Given the description of an element on the screen output the (x, y) to click on. 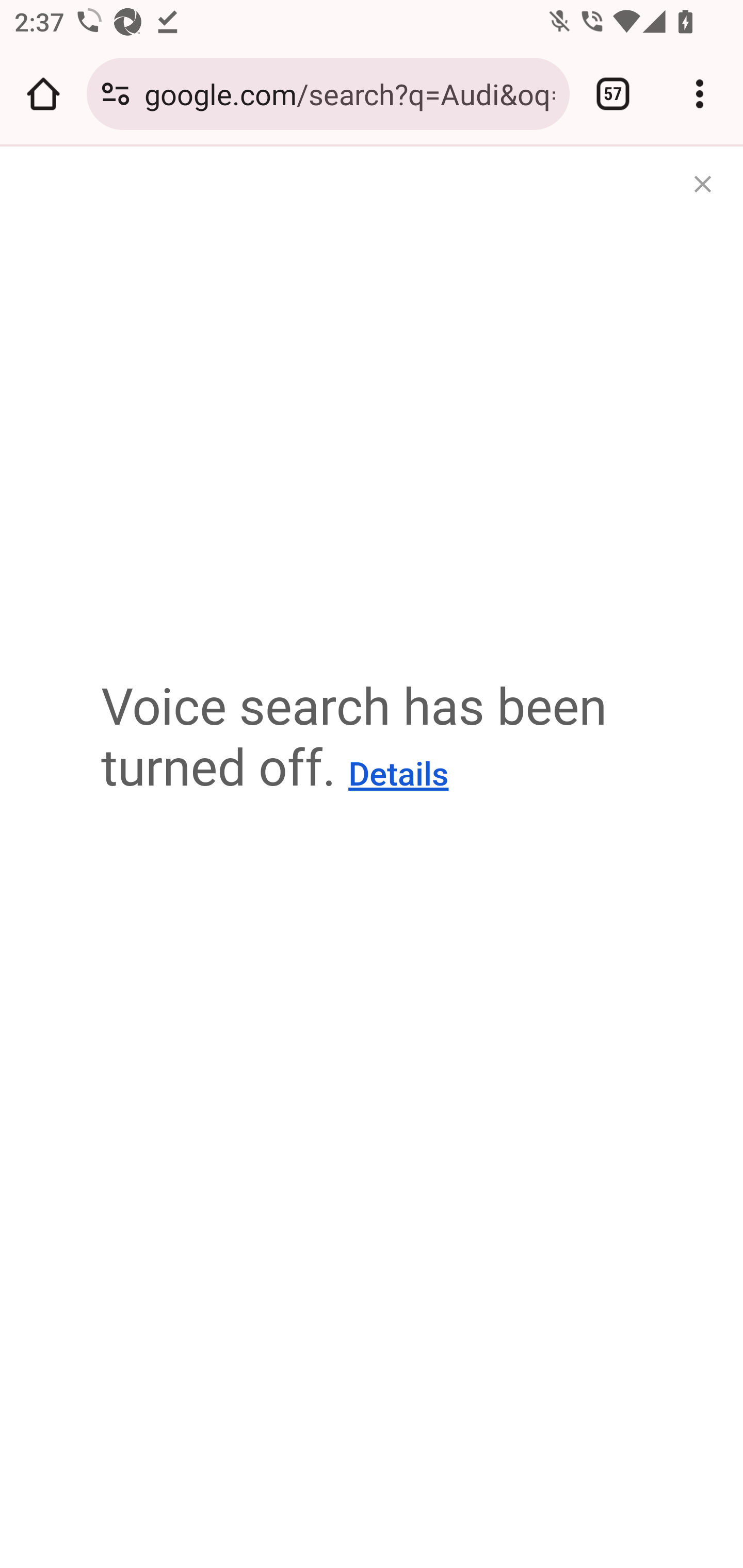
Open the home page (43, 93)
Connection is secure (115, 93)
Switch or close tabs (612, 93)
Customize and control Google Chrome (699, 93)
close (700, 187)
Details (397, 774)
